Given the description of an element on the screen output the (x, y) to click on. 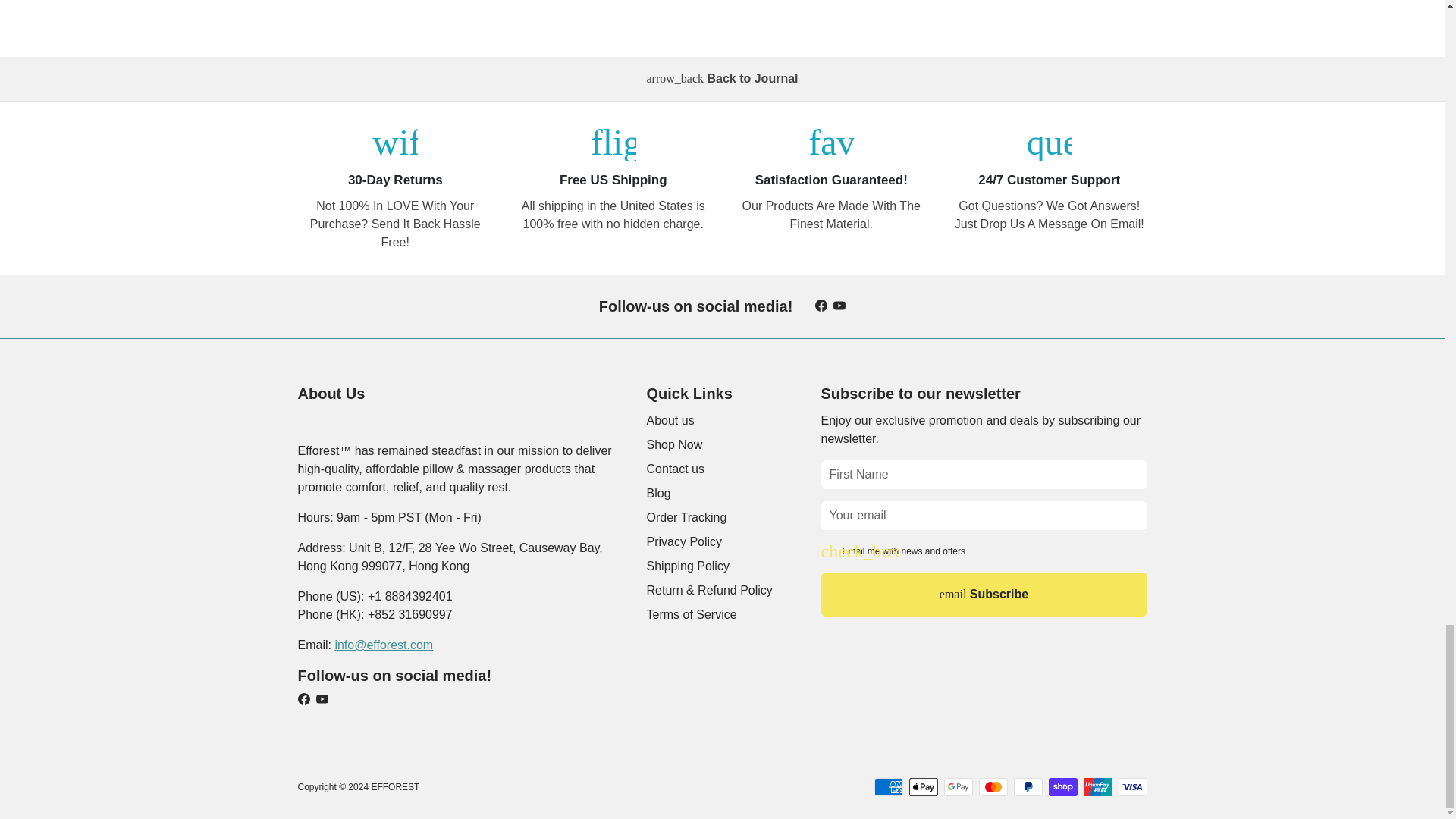
Google Pay (957, 787)
EFFOREST on Youtube (838, 305)
EFFOREST on Facebook (821, 305)
Visa (1132, 787)
Mastercard (992, 787)
American Express (887, 787)
Shop Pay (1062, 787)
PayPal (1027, 787)
Union Pay (1097, 787)
Apple Pay (922, 787)
